Given the description of an element on the screen output the (x, y) to click on. 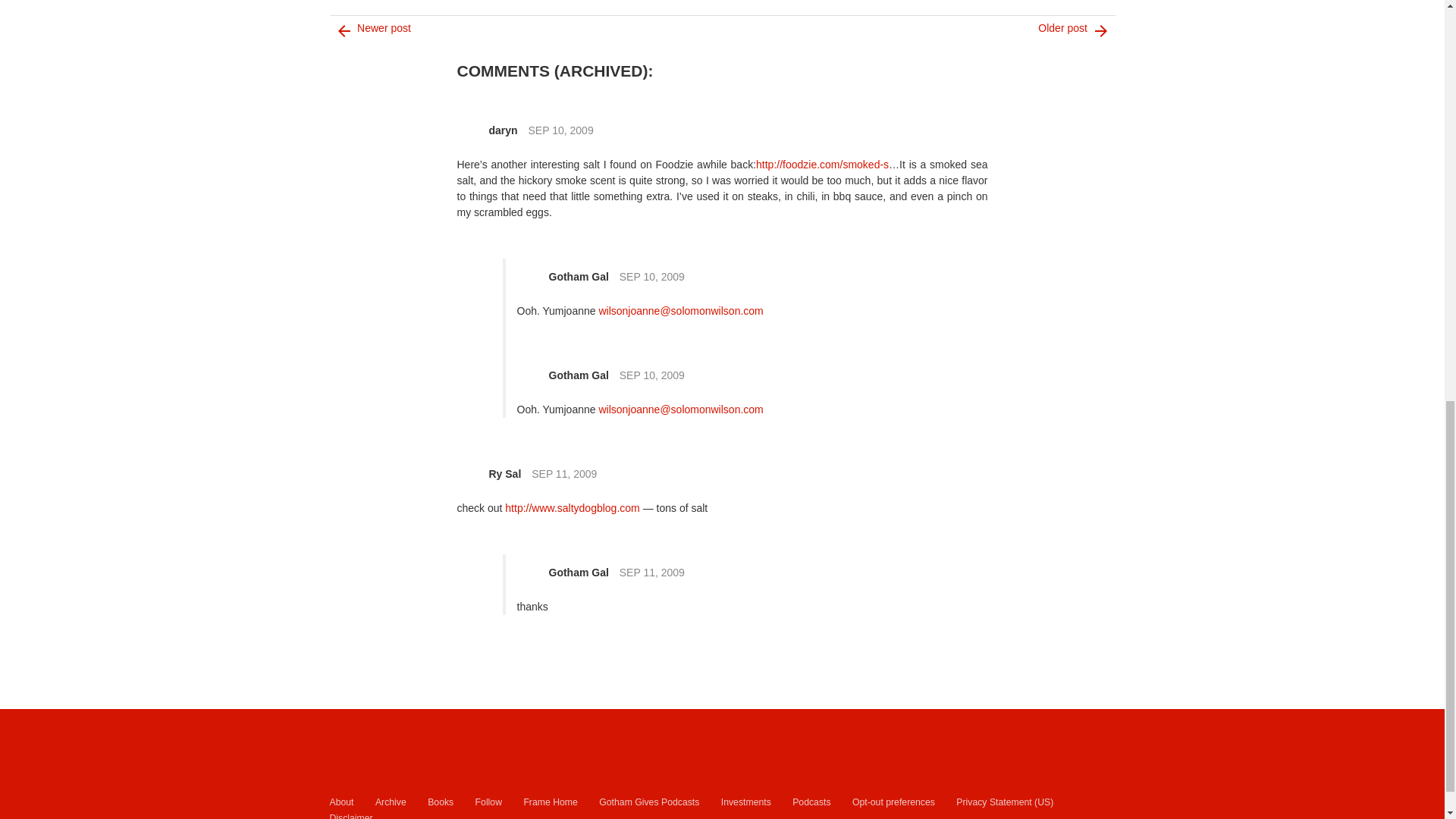
Podcasts (810, 802)
About (341, 802)
Gotham Gives Podcasts (648, 802)
Archive (390, 802)
Investments (745, 802)
Opt-out preferences (892, 802)
Follow (489, 802)
Books (440, 802)
Frame Home (549, 802)
Archive (390, 802)
Disclaimer (350, 815)
Books (440, 802)
Follow (489, 802)
About (341, 802)
